Given the description of an element on the screen output the (x, y) to click on. 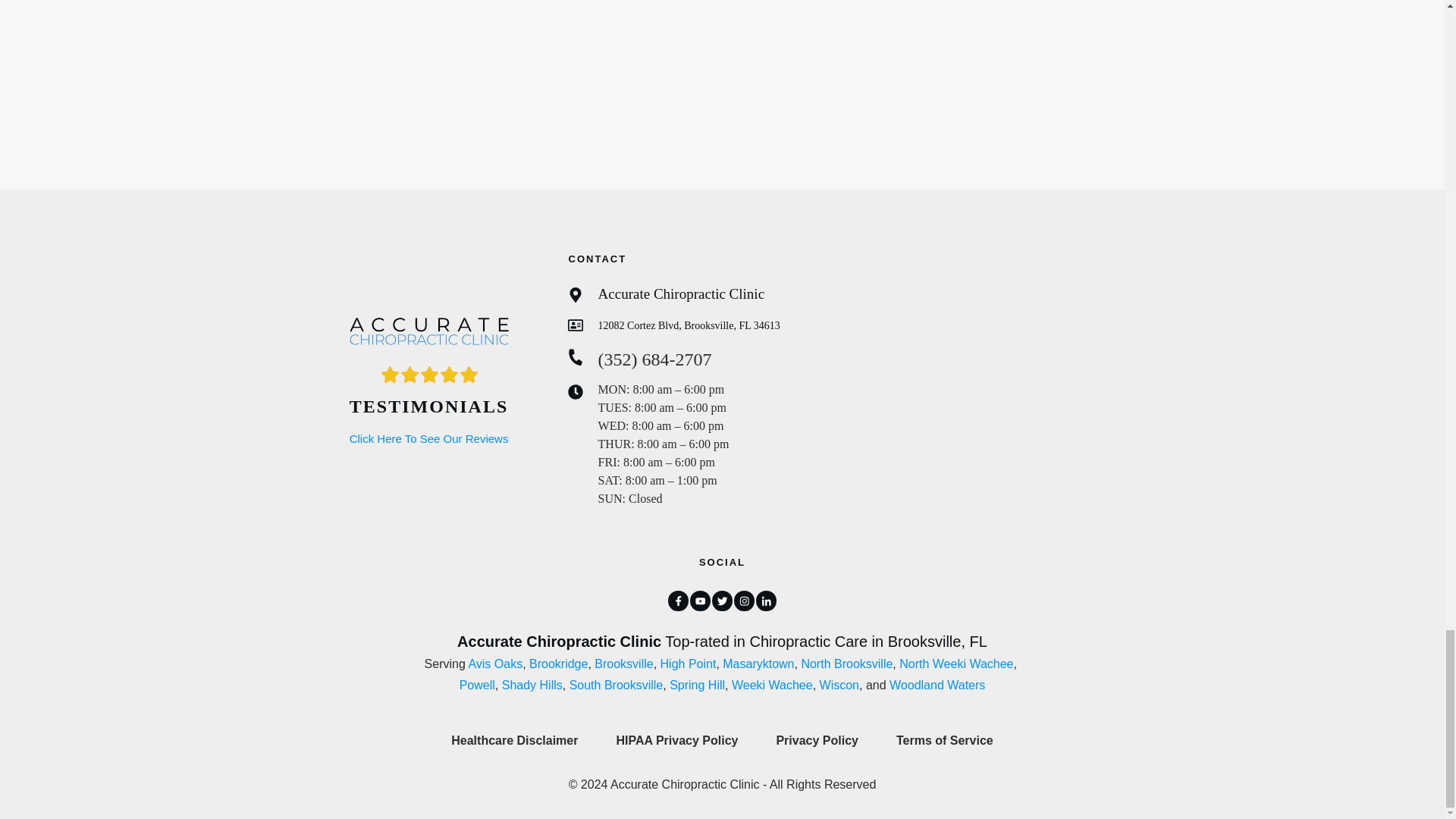
Google Map (995, 385)
